Given the description of an element on the screen output the (x, y) to click on. 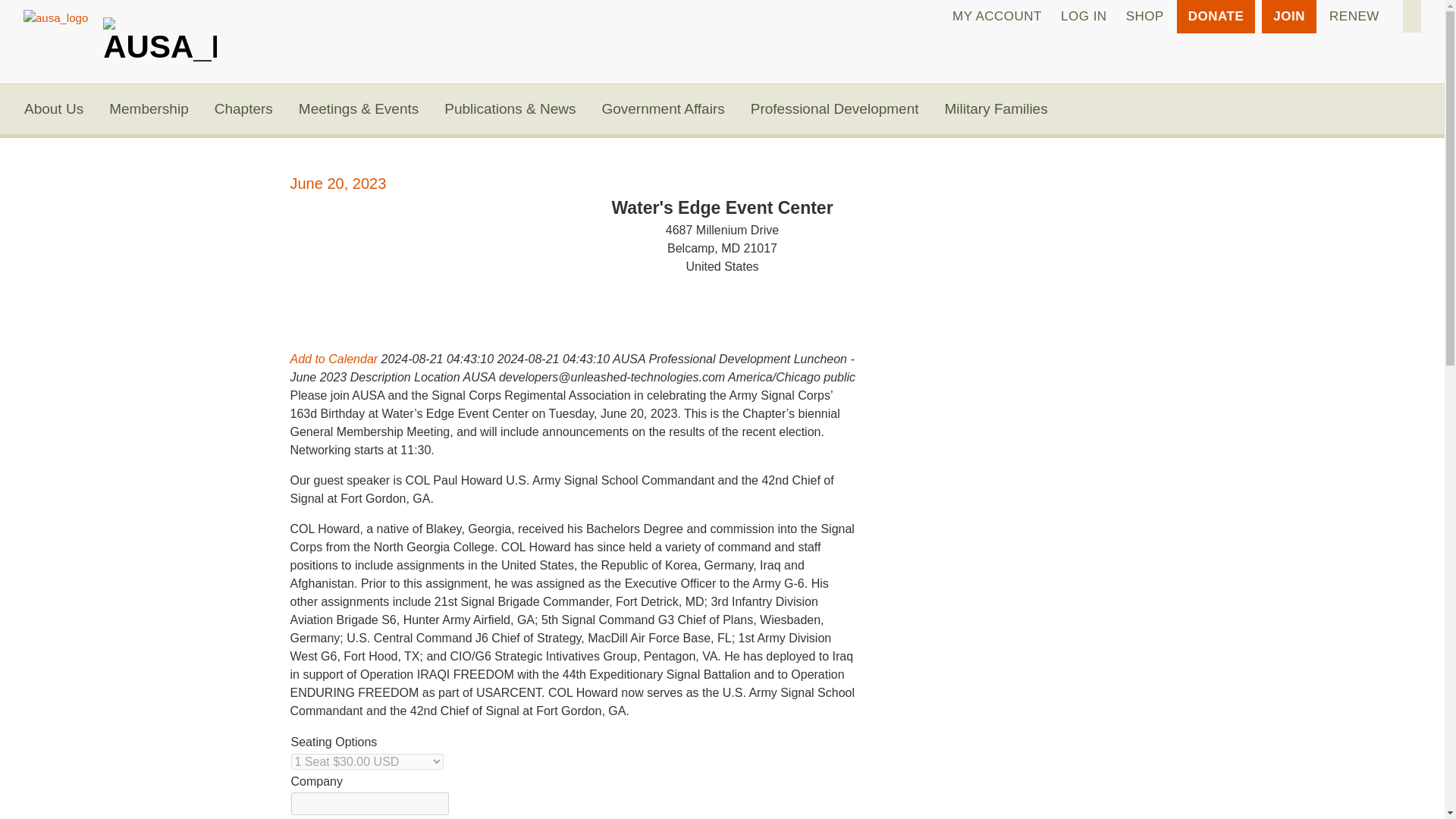
Chapters (243, 109)
About Us (53, 109)
Skip to main content (721, 1)
SHOP (1144, 16)
JOIN (1289, 16)
RENEW (1354, 16)
DONATE (1215, 16)
Association of the United States Army (159, 35)
ASSOCIATION OF THE UNITED STATES ARMY (159, 35)
LOG IN (1083, 16)
